Given the description of an element on the screen output the (x, y) to click on. 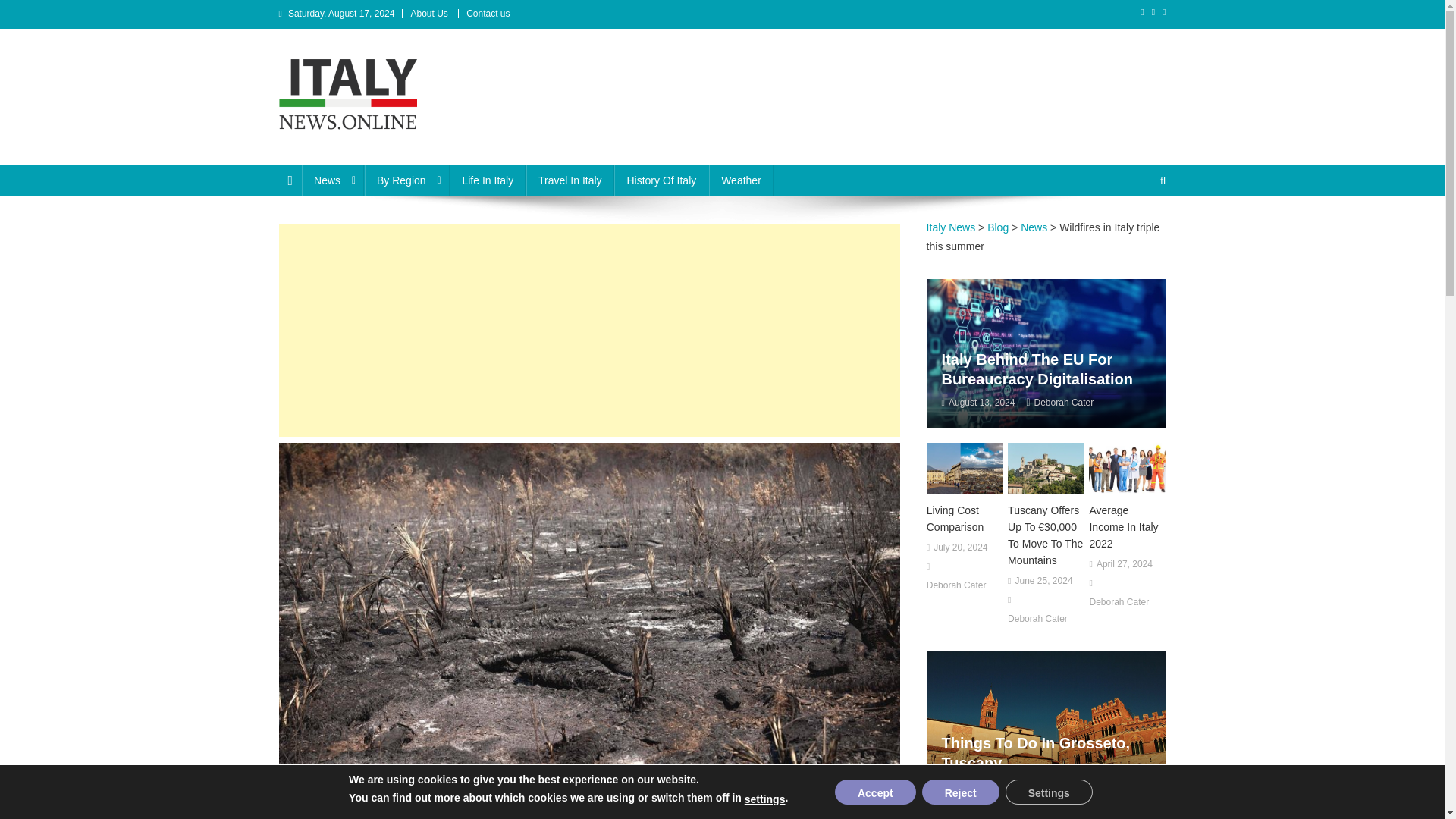
Search (1133, 230)
About Us (428, 13)
Go to Blog. (998, 227)
Contact us (487, 13)
Go to Italy News. (950, 227)
History Of Italy (660, 180)
Advertisement (589, 330)
By Region (407, 180)
News (332, 180)
Travel In Italy (569, 180)
